Given the description of an element on the screen output the (x, y) to click on. 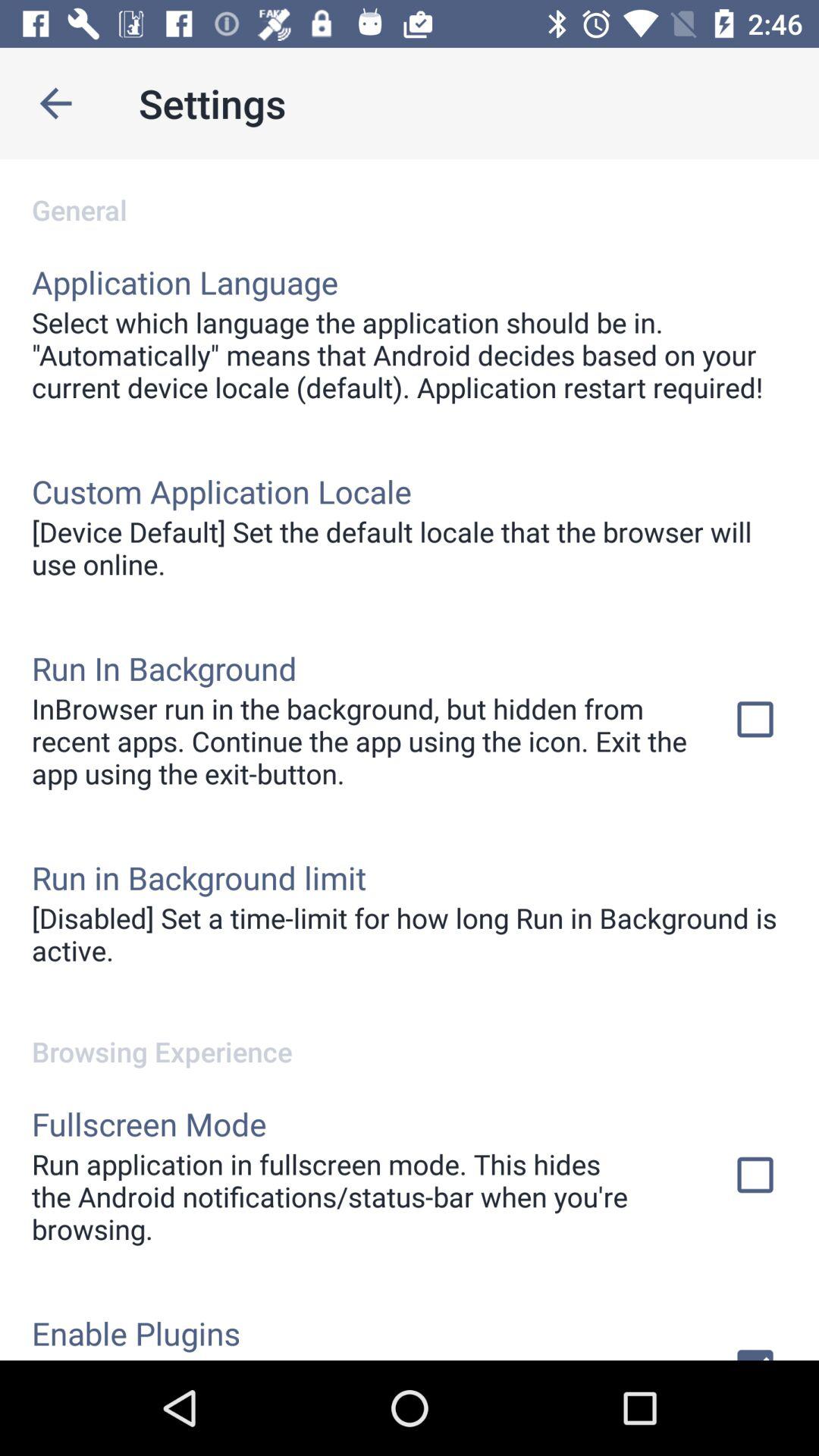
choose icon next to   settings app (55, 103)
